Given the description of an element on the screen output the (x, y) to click on. 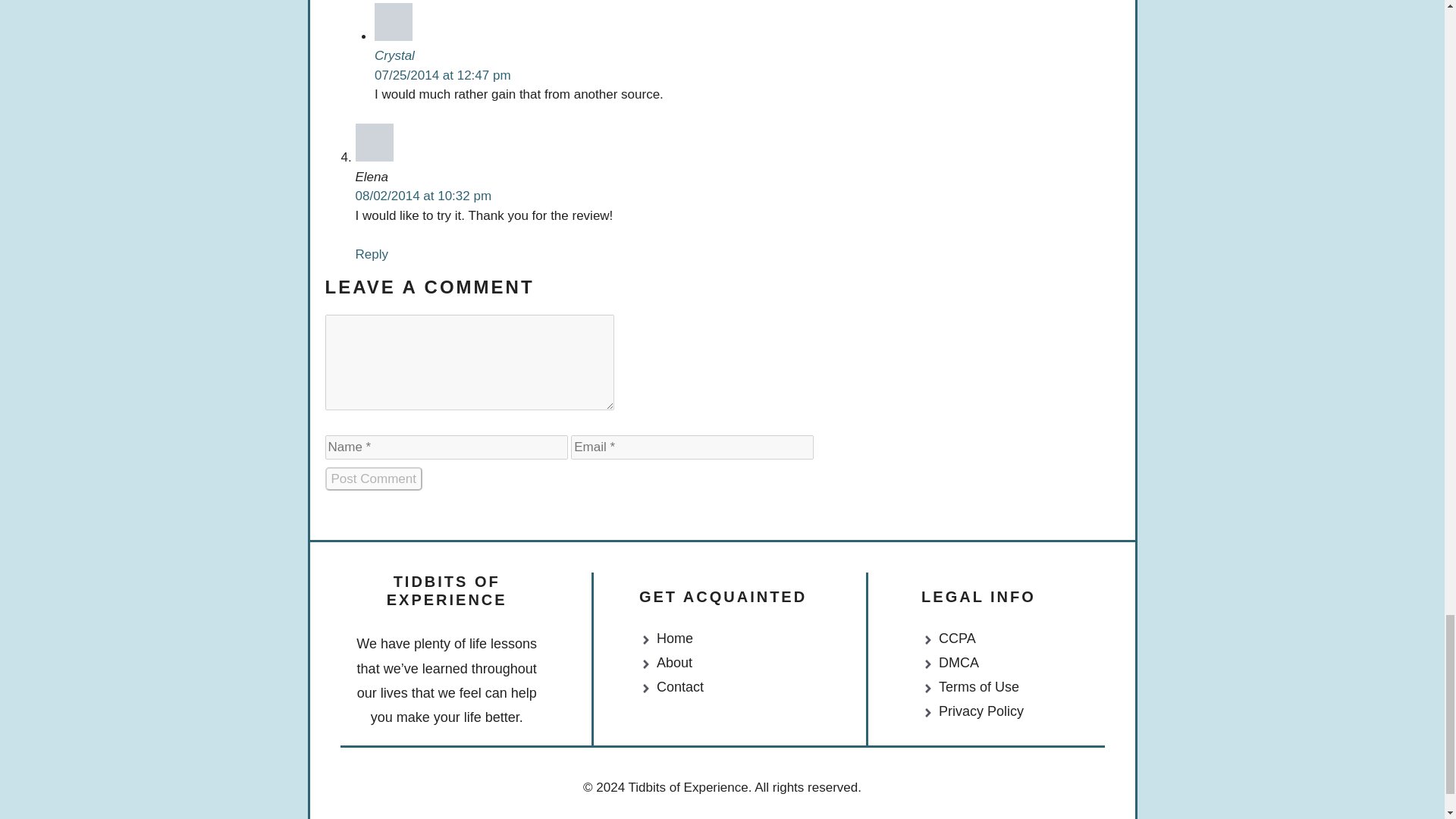
Post Comment (373, 478)
